Given the description of an element on the screen output the (x, y) to click on. 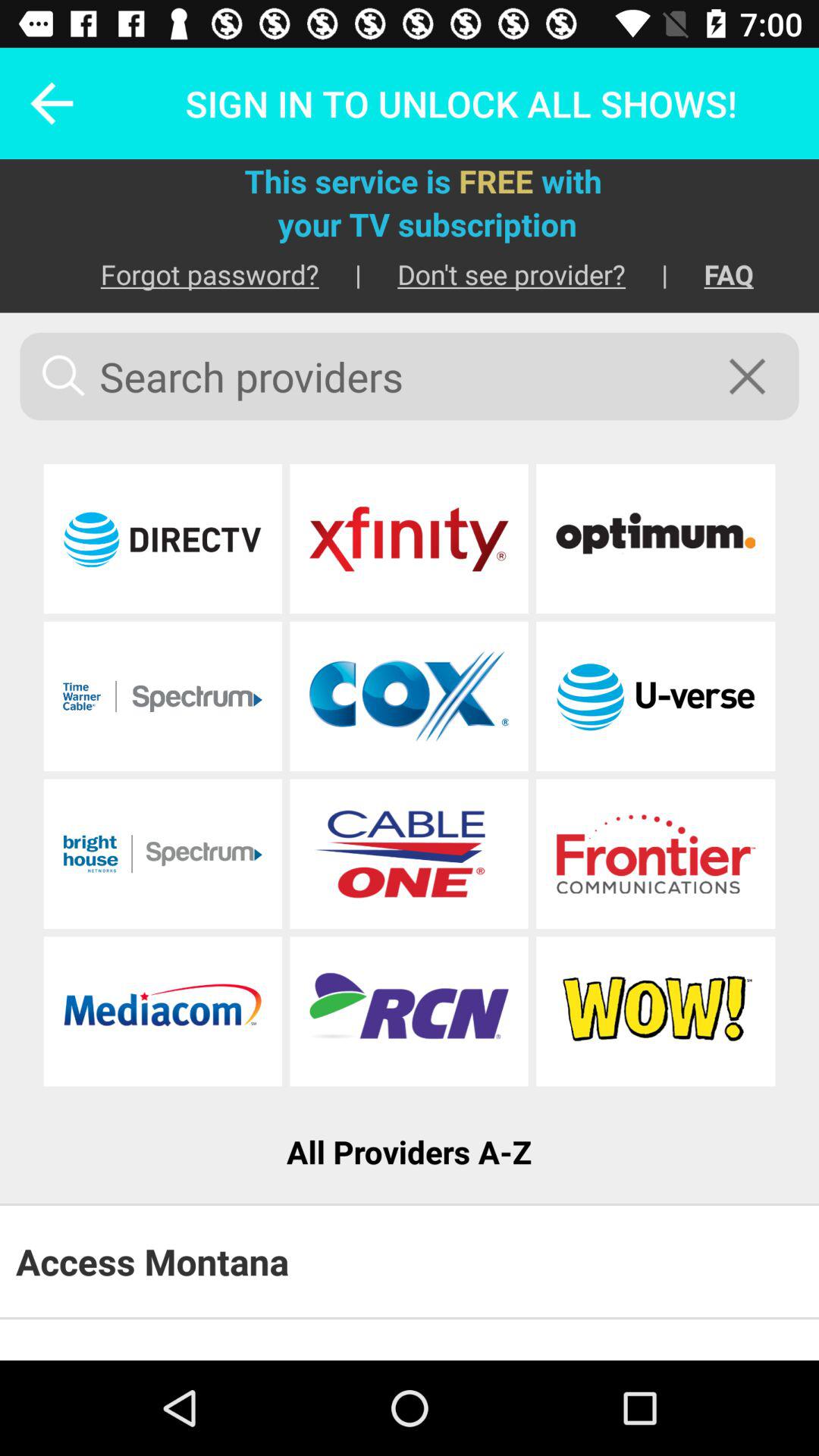
select u-verse (655, 696)
